Given the description of an element on the screen output the (x, y) to click on. 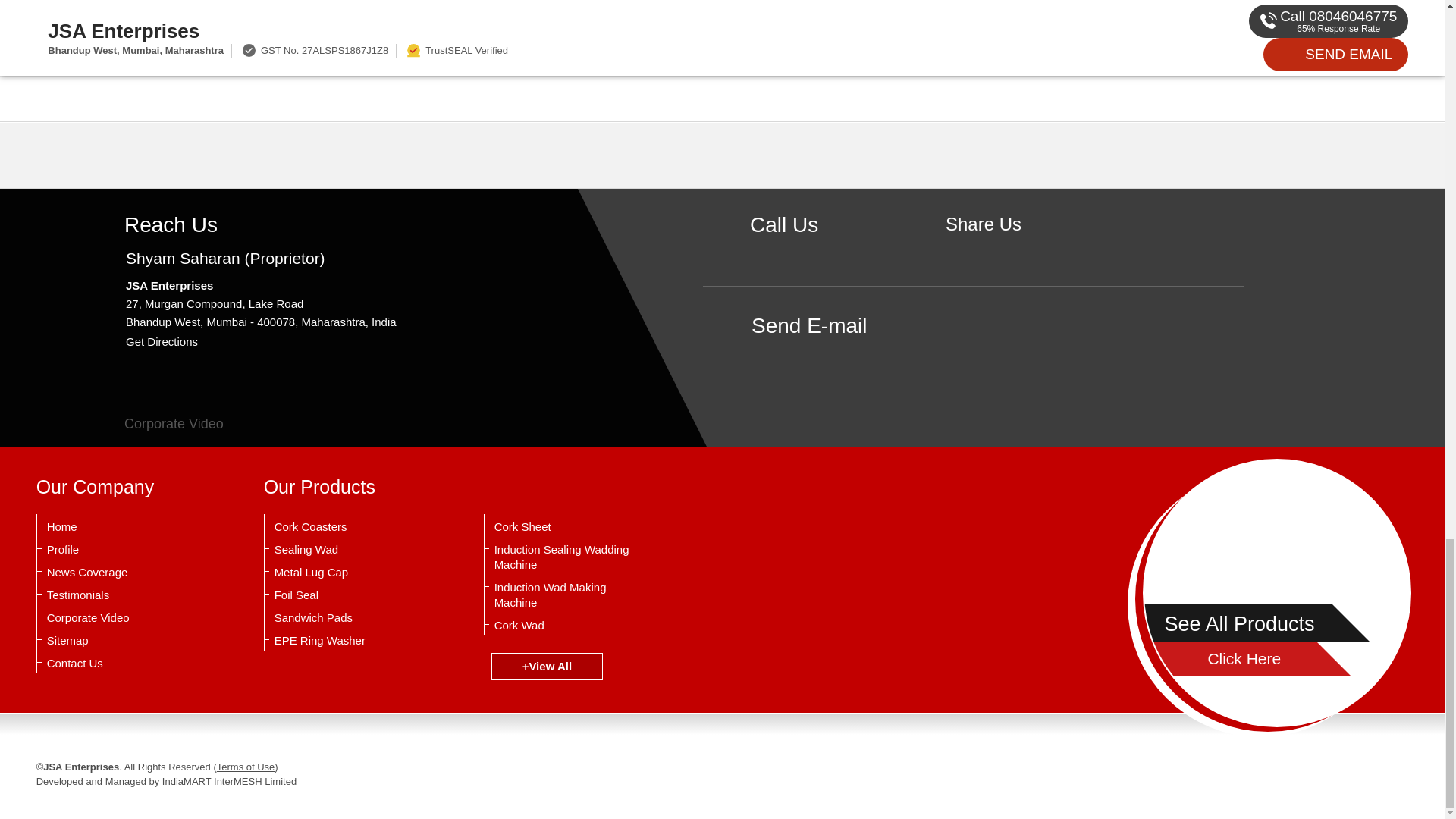
Get Directions (161, 750)
3.8 out of 5 Votes (289, 141)
View More Reviews (714, 487)
